Given the description of an element on the screen output the (x, y) to click on. 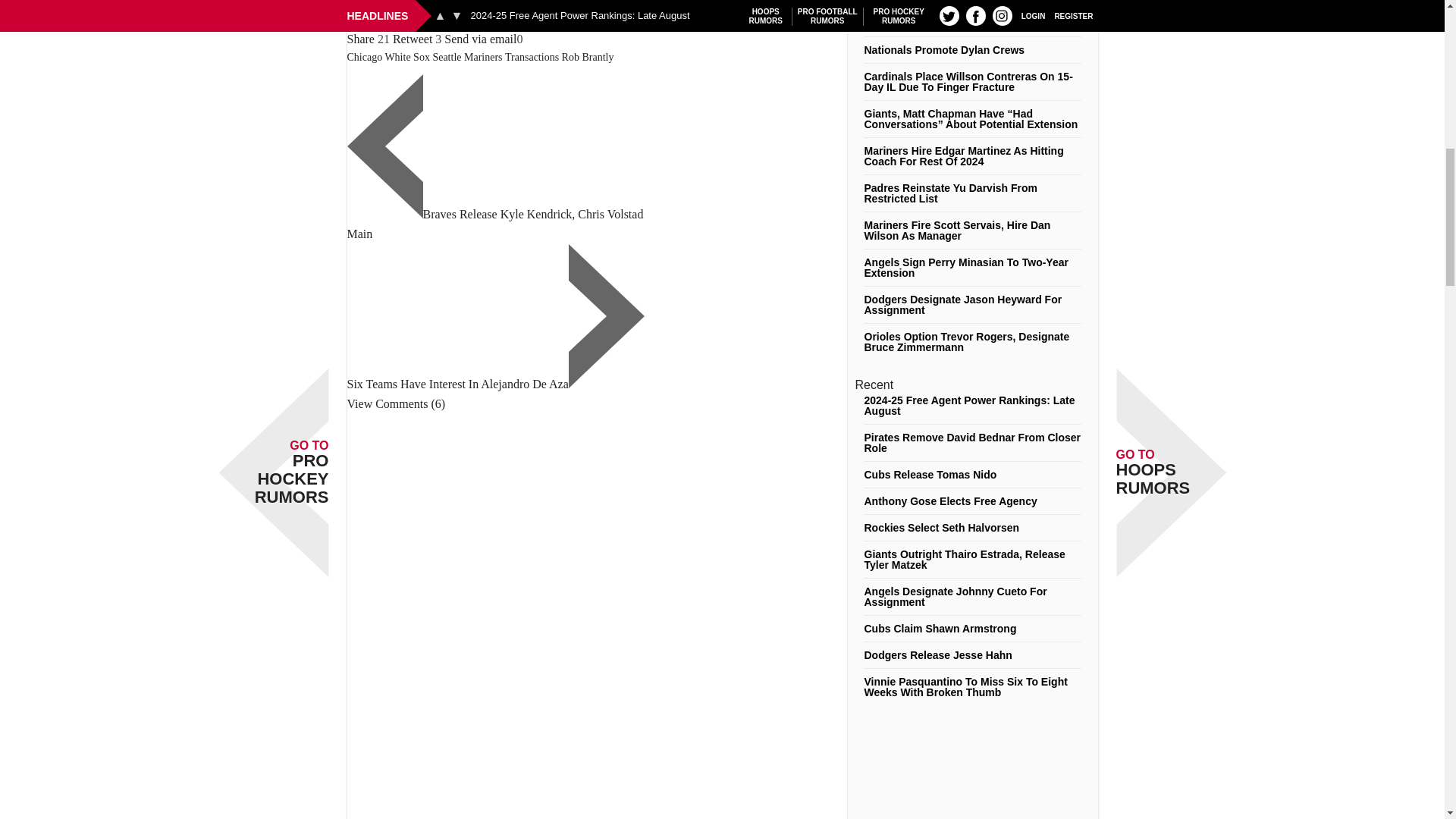
Send Mariners Claim Rob Brantly From White Sox with an email (480, 38)
